Given the description of an element on the screen output the (x, y) to click on. 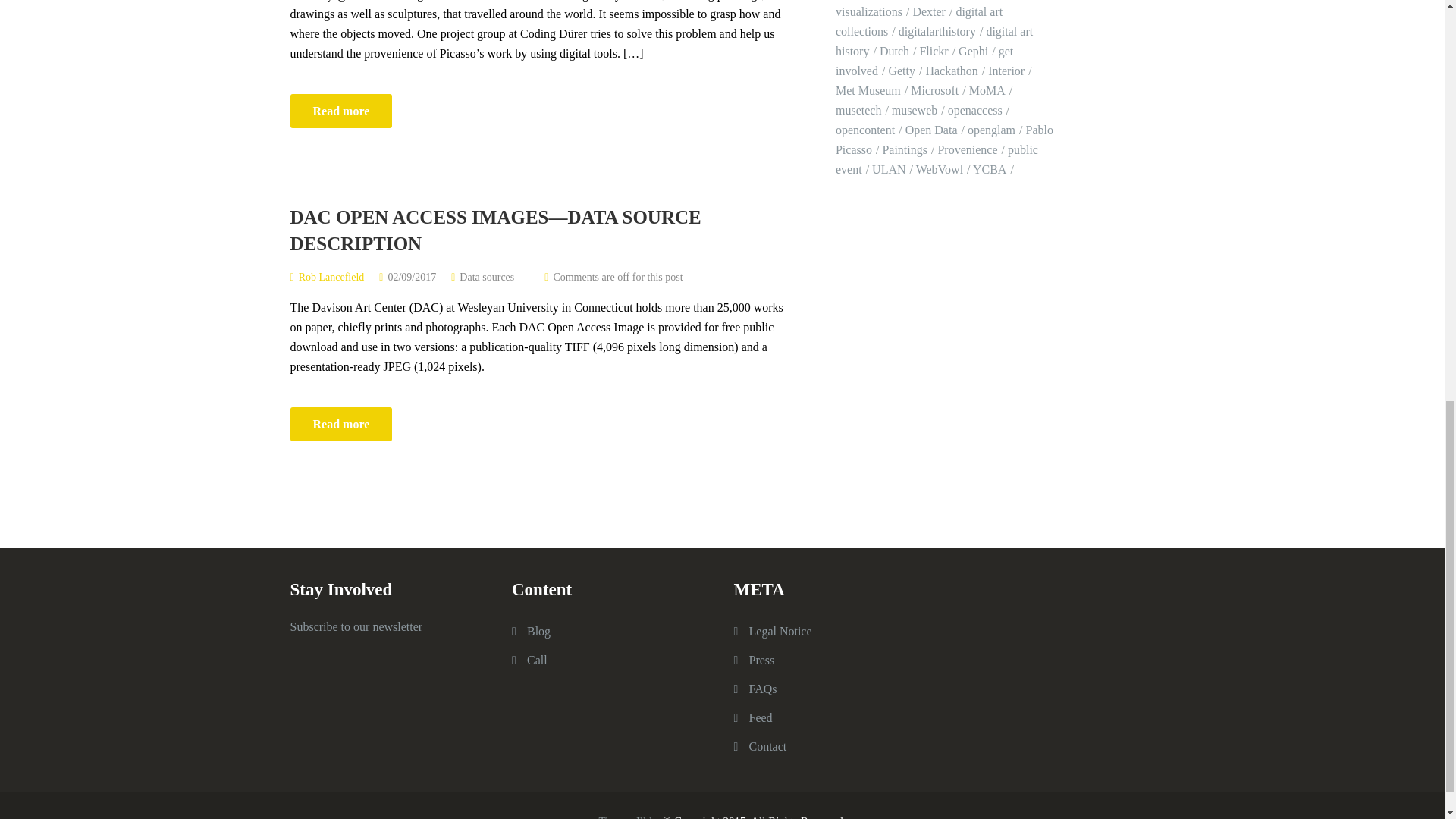
digital art collections (919, 20)
Call (537, 659)
Read more (340, 110)
data visualizations (931, 9)
Data sources (486, 276)
Read more (340, 424)
digital art history (933, 41)
Dexter (932, 11)
digitalarthistory (941, 31)
Contact (768, 746)
